Given the description of an element on the screen output the (x, y) to click on. 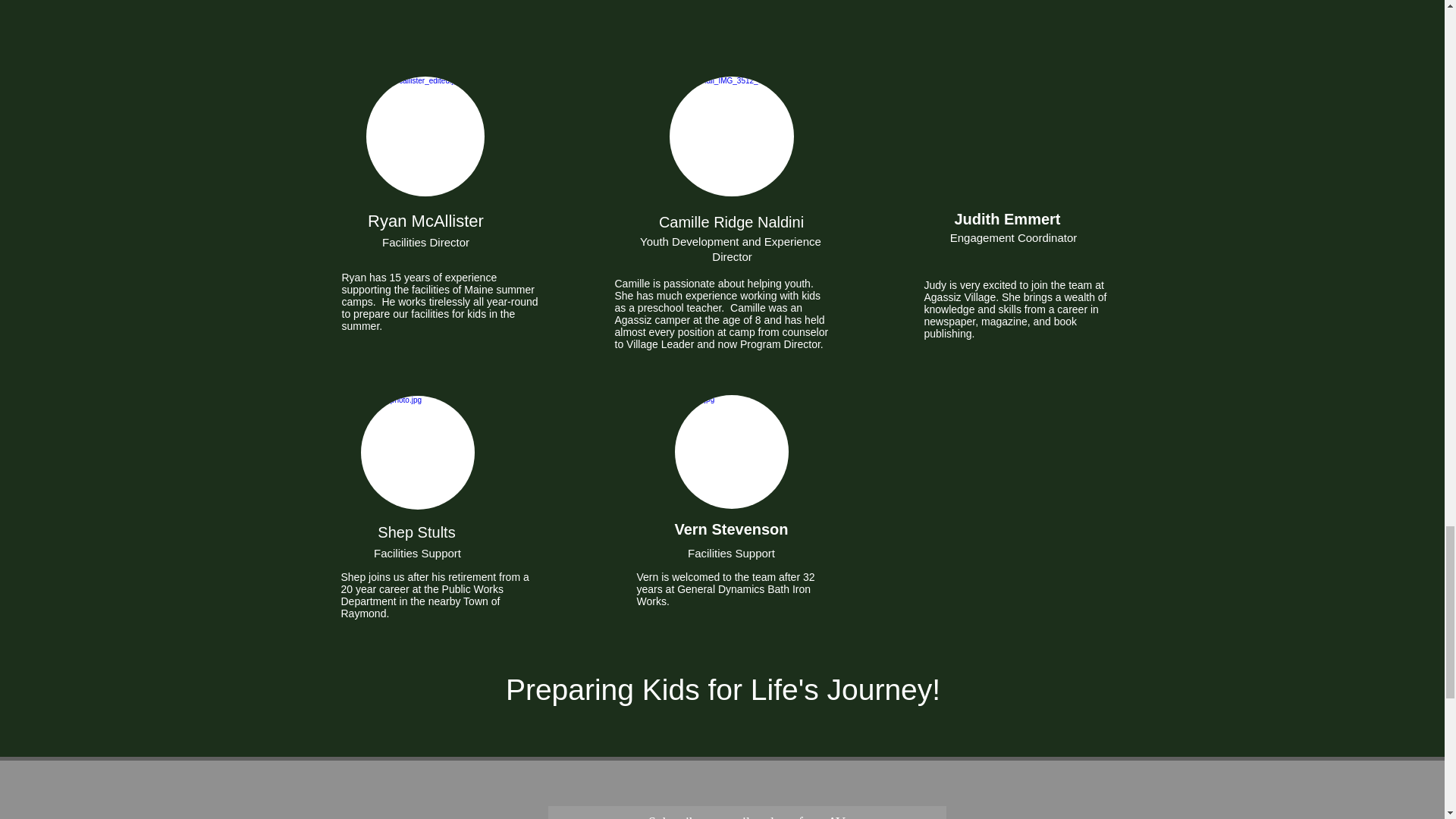
guy2.jpg (732, 451)
guy2.jpg (424, 136)
guy3.jpg (730, 136)
guy2.jpg (417, 452)
